Given the description of an element on the screen output the (x, y) to click on. 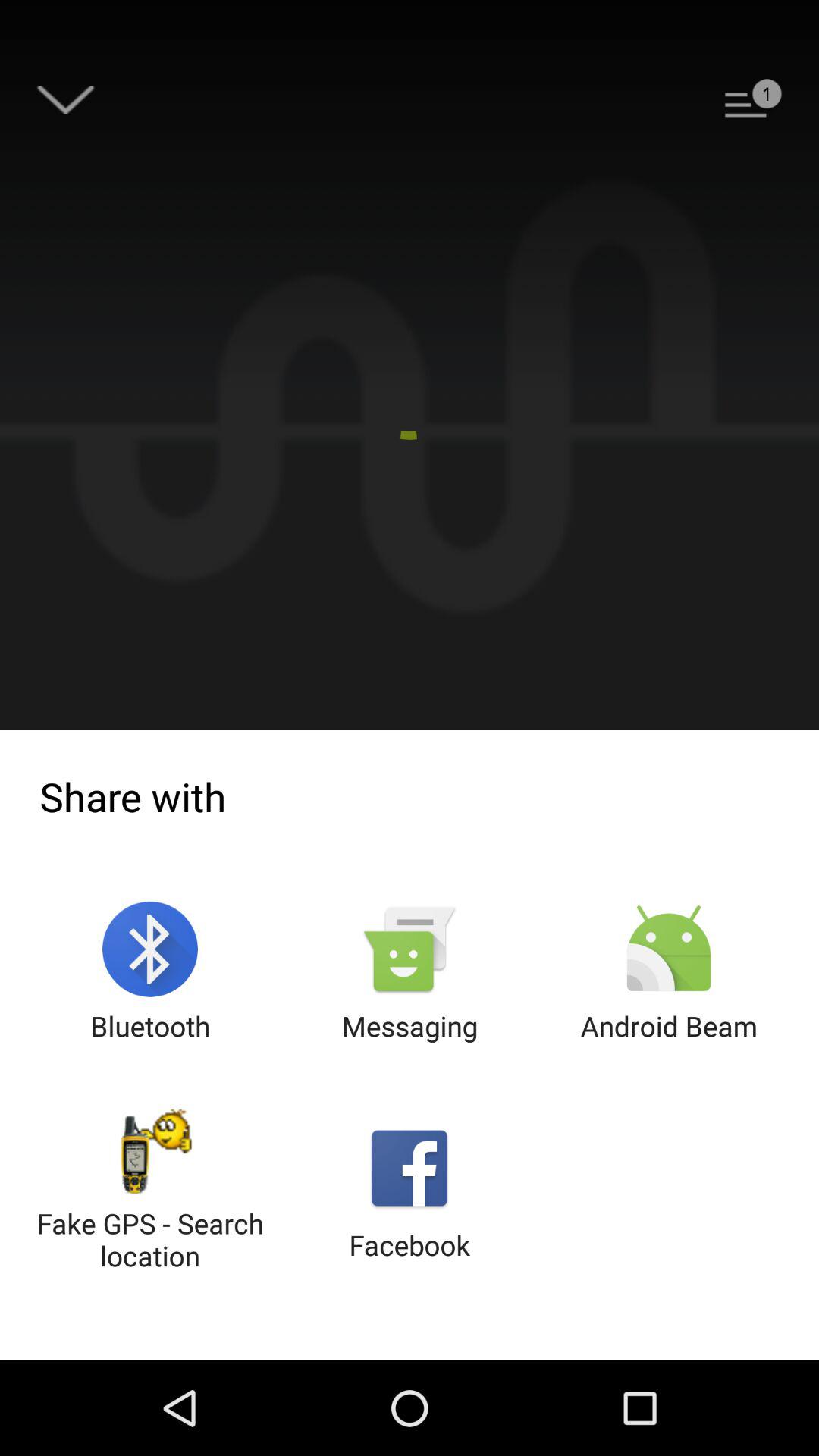
swipe until fake gps search icon (150, 1191)
